Given the description of an element on the screen output the (x, y) to click on. 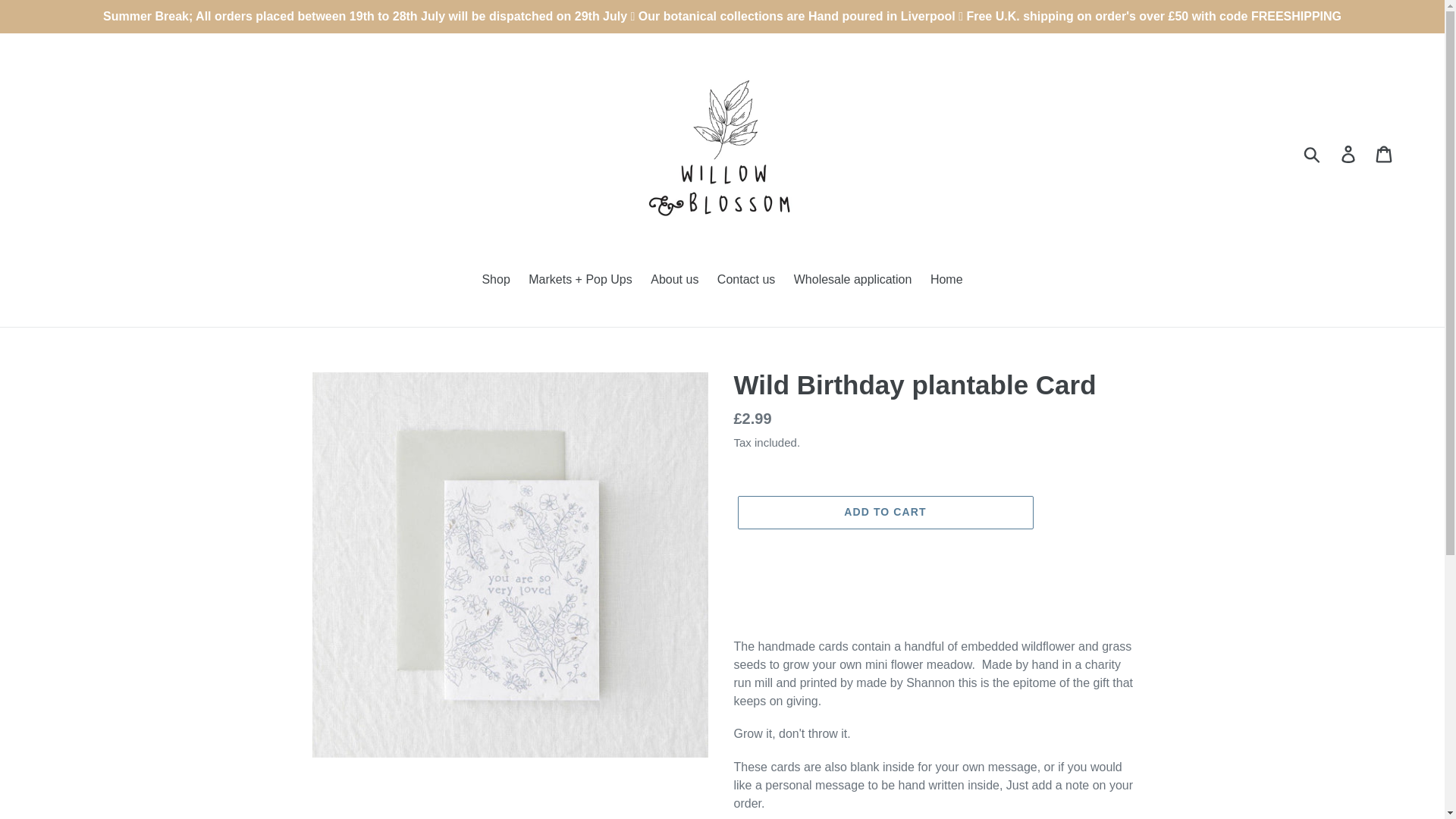
Log in (1349, 153)
Cart (1385, 153)
About us (674, 281)
Submit (1313, 153)
ADD TO CART (884, 512)
Shop (495, 281)
Home (947, 281)
Wholesale application (853, 281)
Contact us (746, 281)
